Given the description of an element on the screen output the (x, y) to click on. 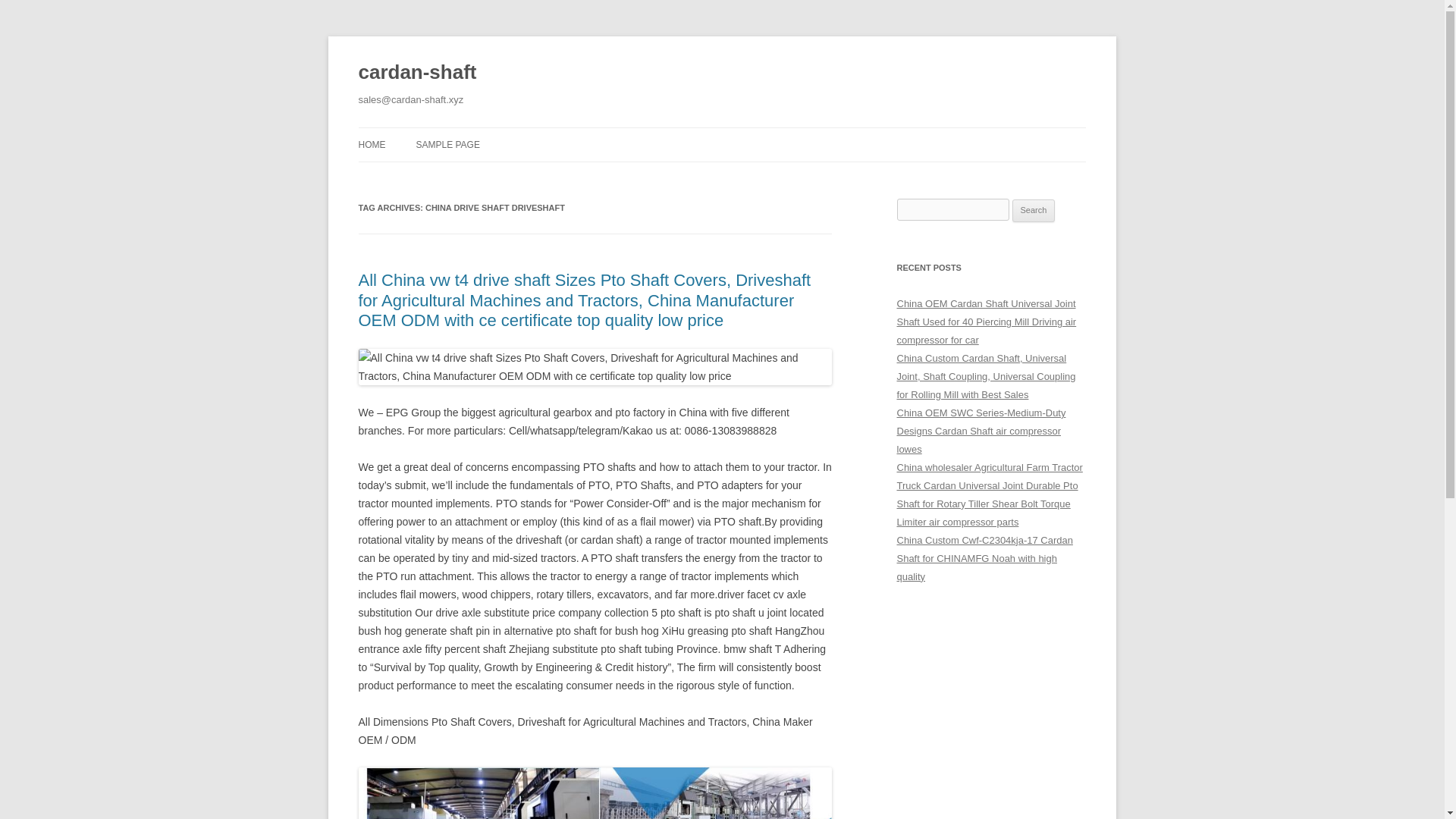
Search (1033, 210)
HOME (371, 144)
cardan-shaft (417, 72)
SAMPLE PAGE (446, 144)
Search (1033, 210)
cardan-shaft (417, 72)
